Given the description of an element on the screen output the (x, y) to click on. 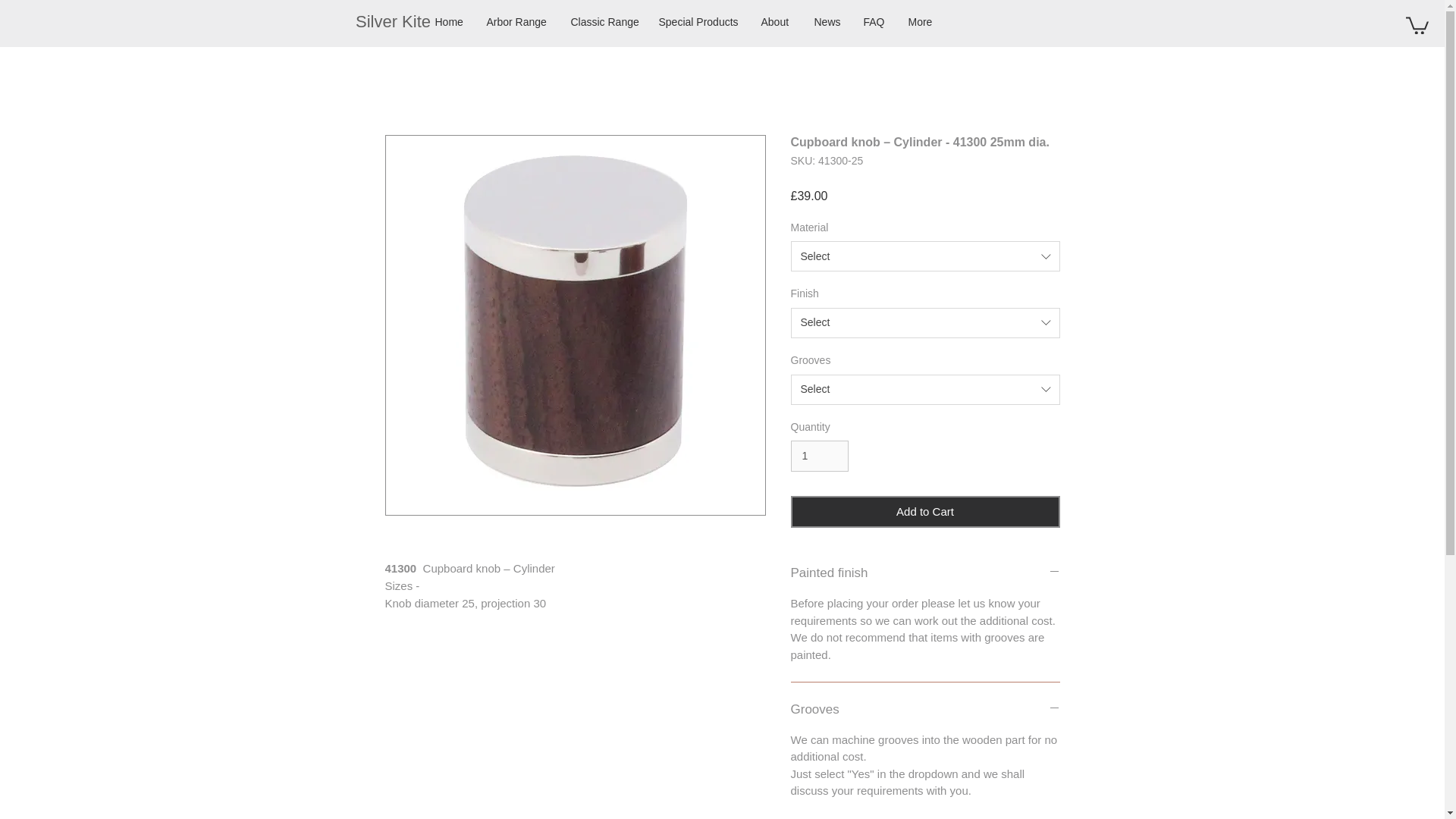
1 (818, 455)
News (826, 21)
Add to Cart (924, 512)
About (775, 21)
Select (924, 322)
FAQ (873, 21)
Special Products (698, 21)
Arbor Range (516, 21)
Home (448, 21)
Grooves (924, 710)
Classic Range (603, 21)
Painted finish (924, 573)
Silver Kite (392, 21)
Select (924, 255)
Select (924, 389)
